Given the description of an element on the screen output the (x, y) to click on. 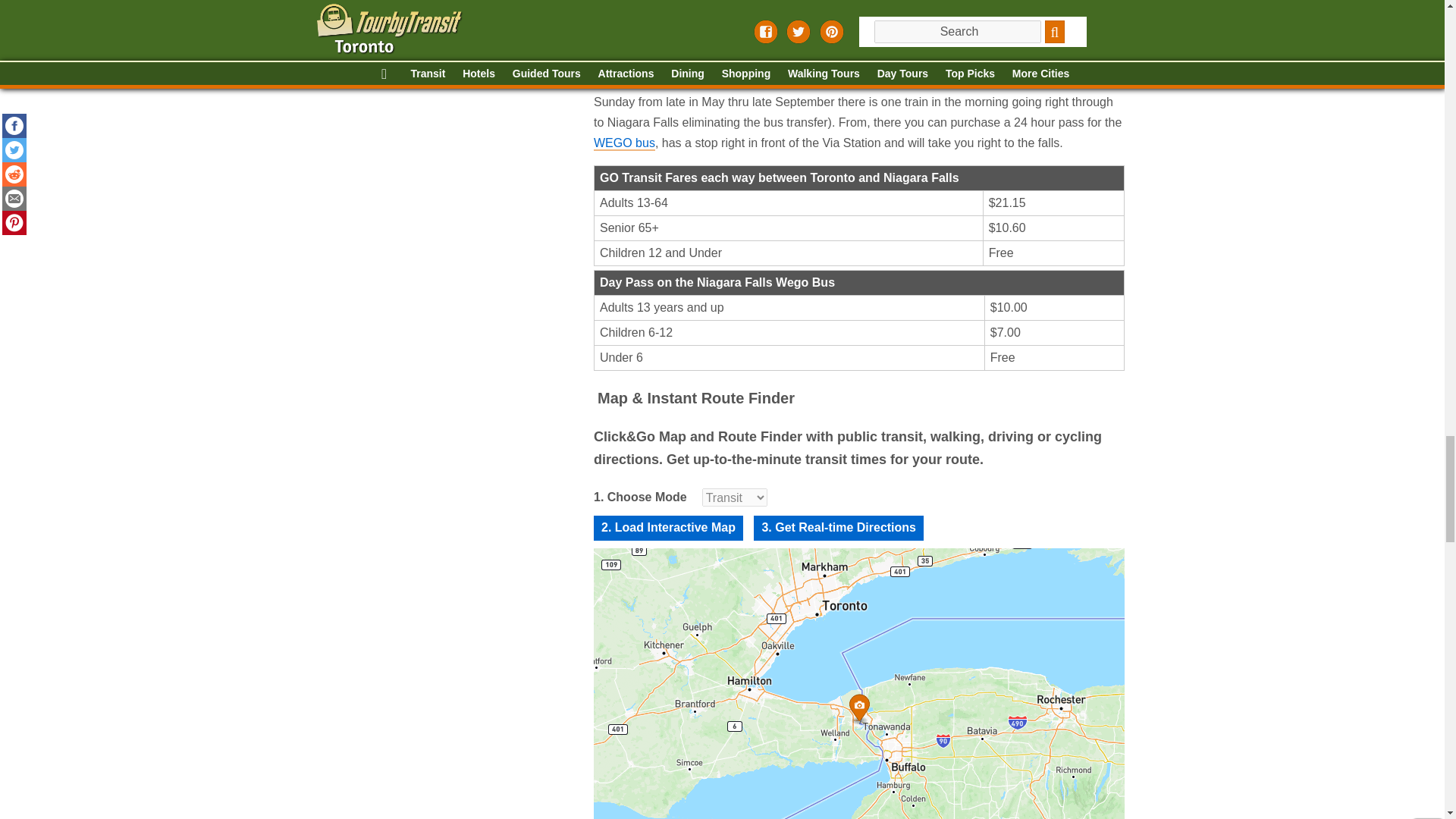
3. Get Real-time Directions (838, 527)
2. Load Interactive Map (667, 527)
WEGO bus (622, 143)
